Given the description of an element on the screen output the (x, y) to click on. 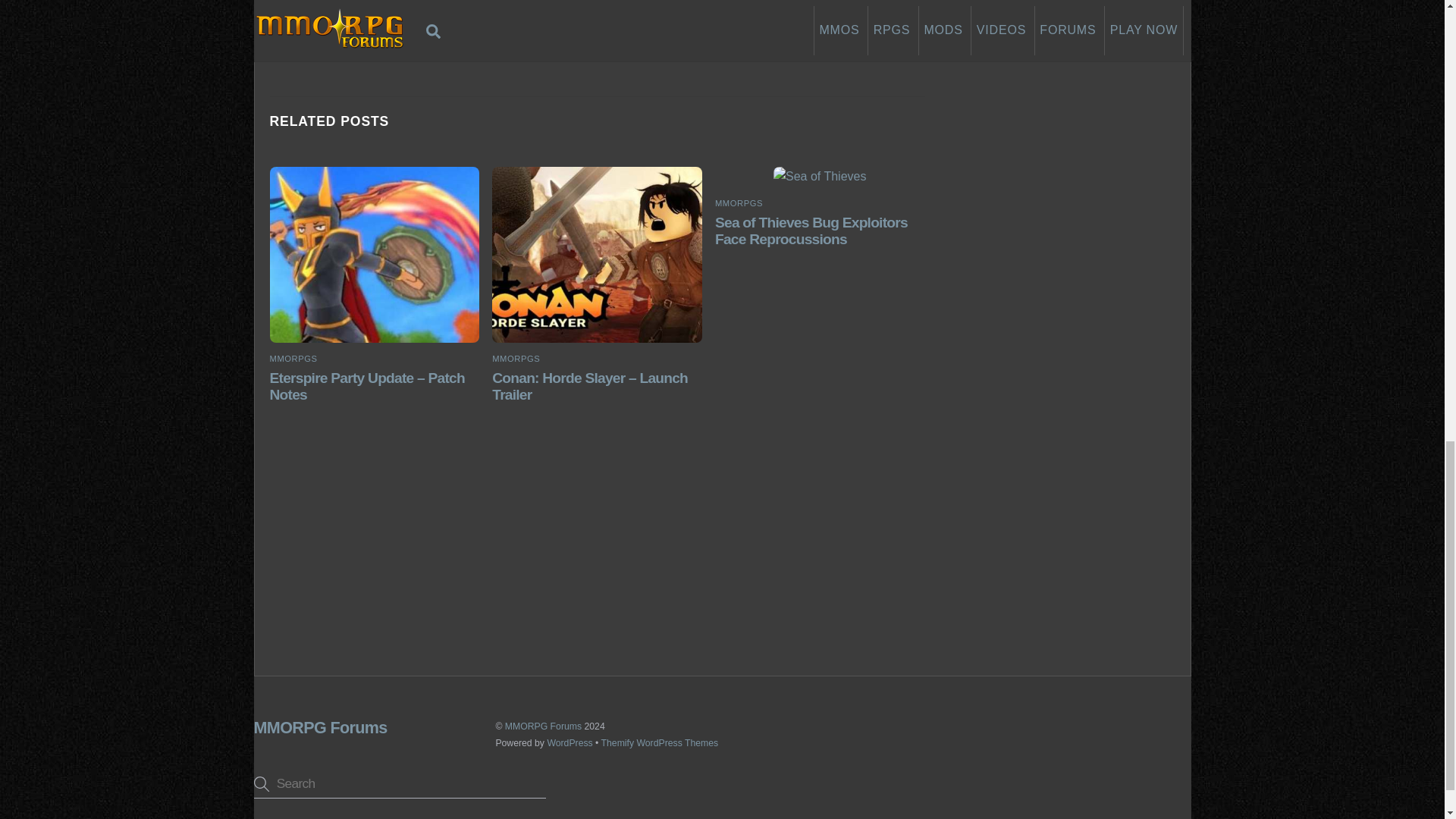
a sea of thieves (819, 176)
Overwatch Has Revealed It Last Hero In Current Game (756, 33)
Search (399, 783)
eterspire (374, 255)
Themify WordPress Themes (660, 742)
MMORPGS (516, 358)
MMORPG Forums (542, 726)
canon horde slayr (596, 255)
MMORPG Forums (320, 727)
MMORPGS (293, 358)
